Given the description of an element on the screen output the (x, y) to click on. 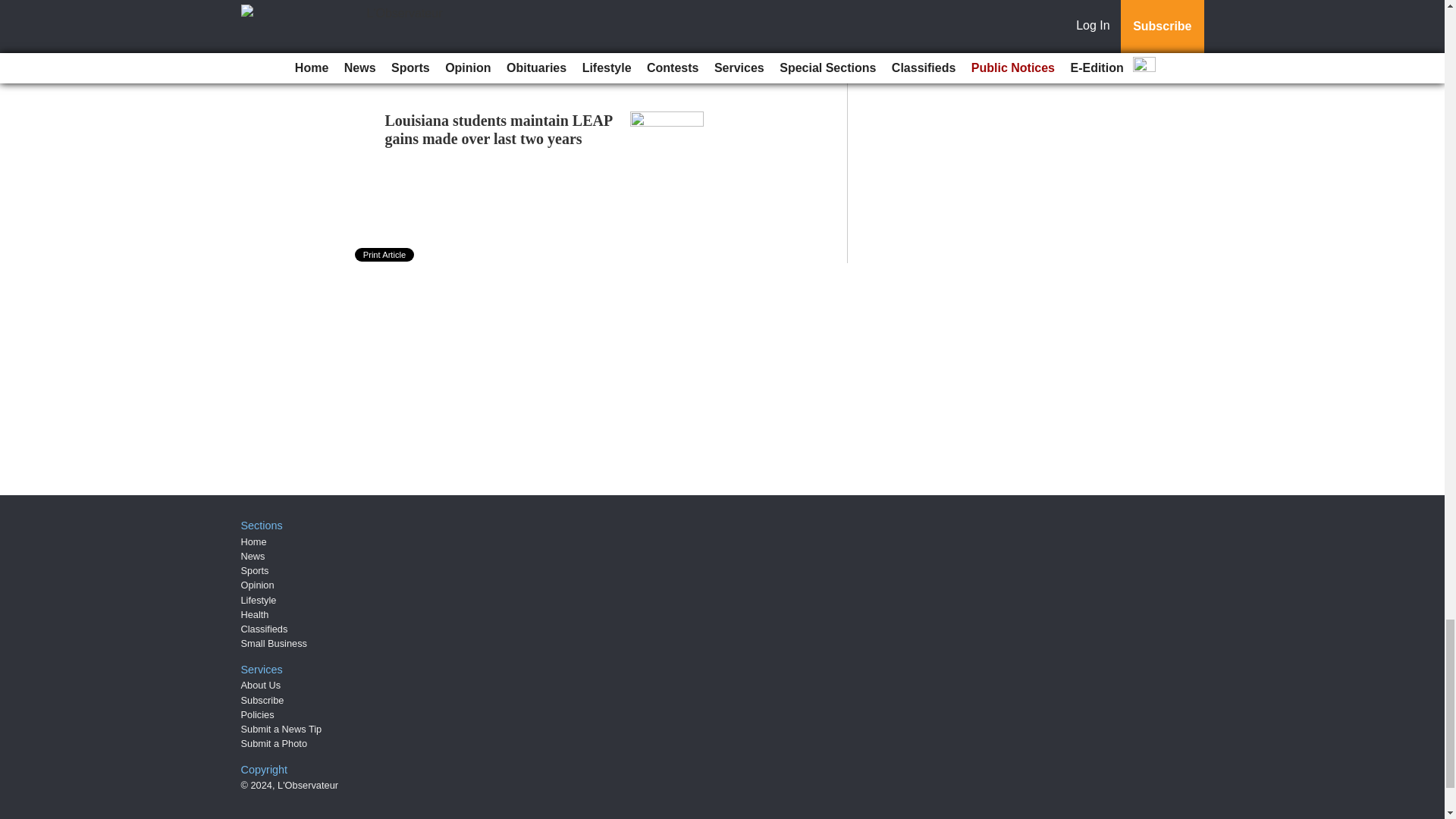
Print Article (384, 254)
